Given the description of an element on the screen output the (x, y) to click on. 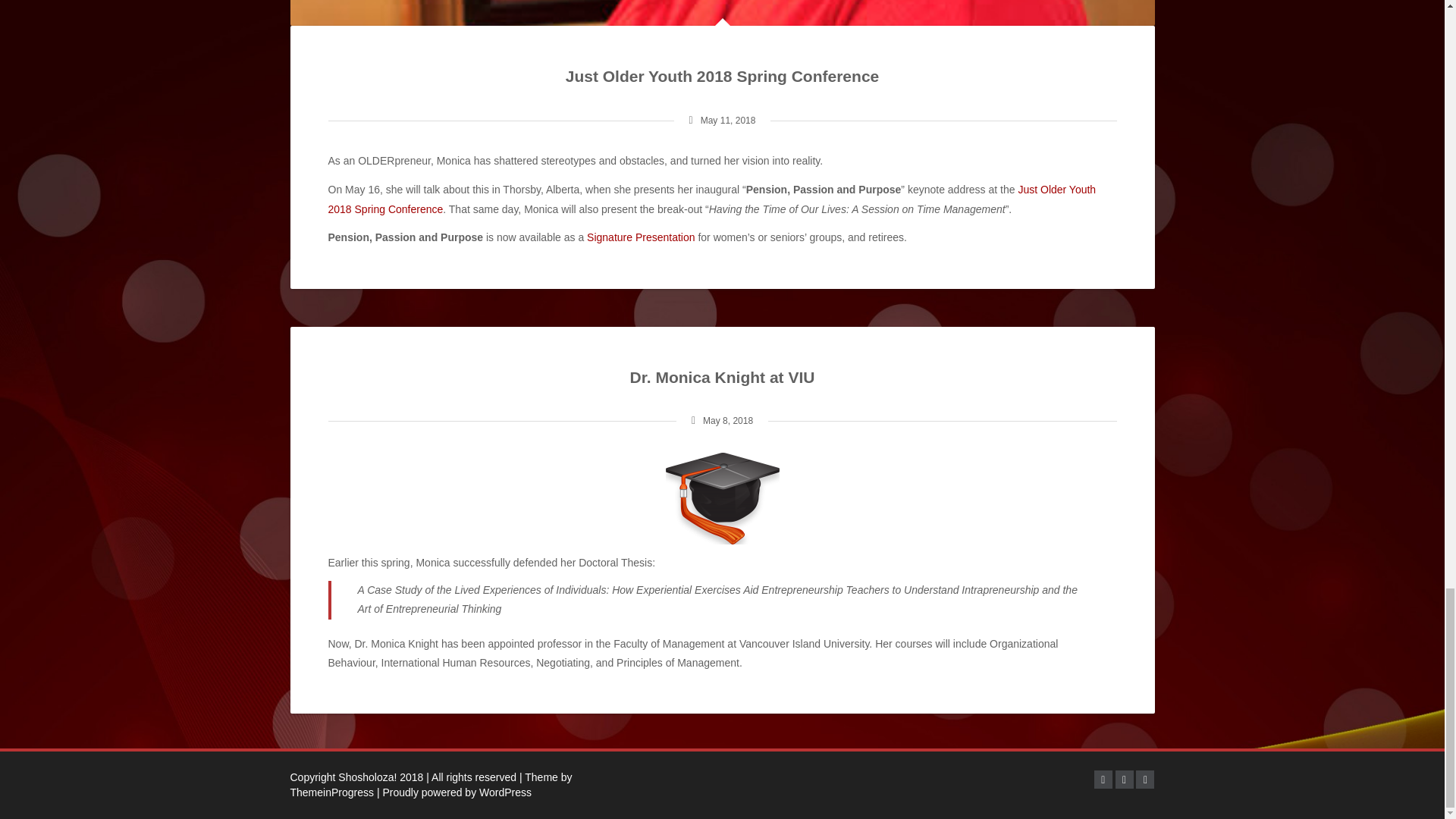
Signature Presentation (640, 236)
facebook (1103, 779)
Dr. Monica Knight at VIU (722, 376)
Just Older Youth 2018 Spring Conference (722, 76)
twitter (1124, 779)
Just Older Youth 2018 Spring Conference (711, 198)
A Semantic Personal Publishing Platform (454, 792)
email (1144, 779)
